Given the description of an element on the screen output the (x, y) to click on. 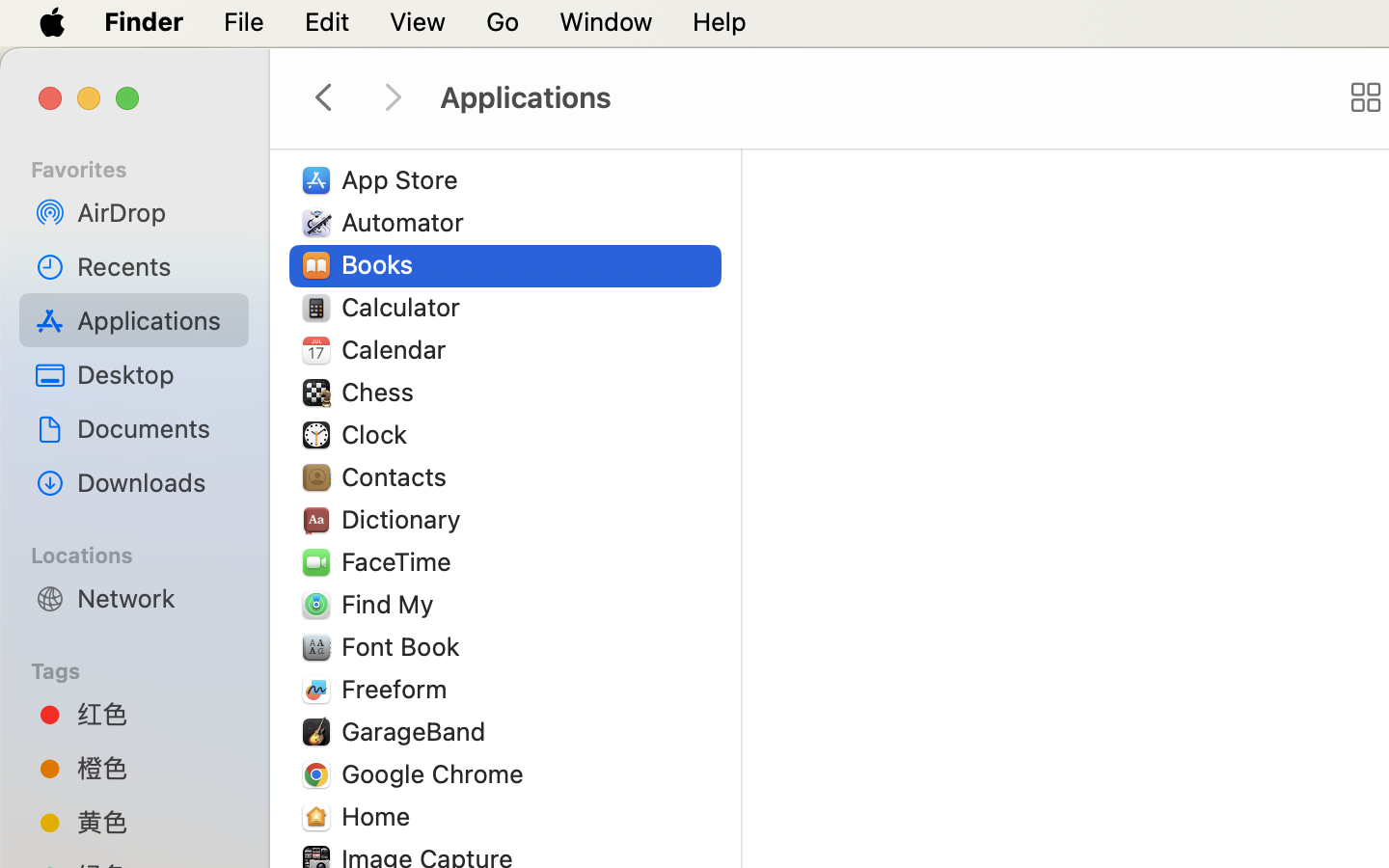
FaceTime Element type: AXTextField (400, 560)
Downloads Element type: AXStaticText (155, 481)
Locations Element type: AXStaticText (145, 552)
Chess Element type: AXTextField (381, 391)
Google Chrome Element type: AXTextField (436, 773)
